Given the description of an element on the screen output the (x, y) to click on. 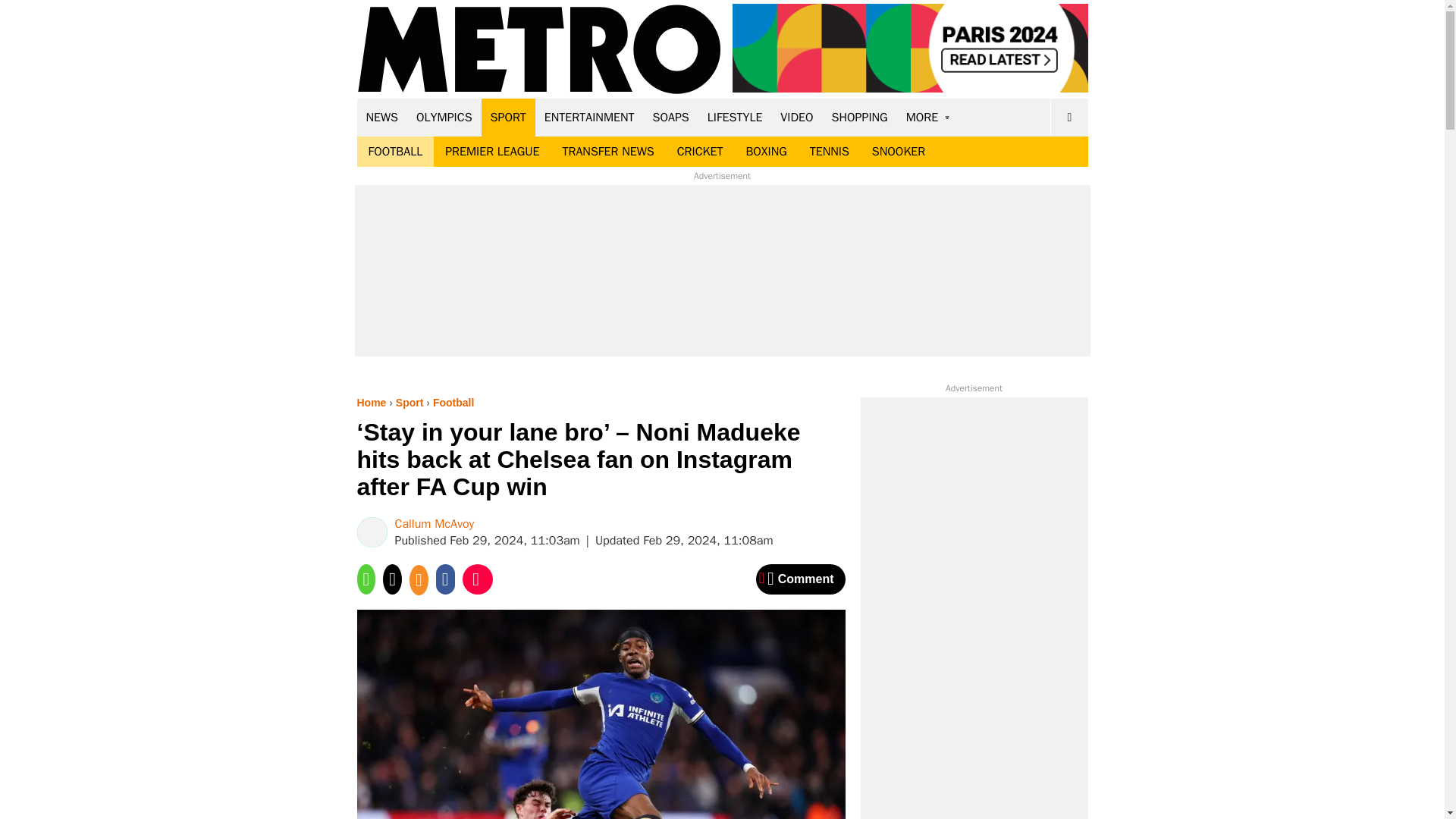
FOOTBALL (394, 151)
OLYMPICS (444, 117)
TRANSFER NEWS (607, 151)
TENNIS (828, 151)
ENTERTAINMENT (589, 117)
CRICKET (700, 151)
SOAPS (670, 117)
SPORT (508, 117)
BOXING (765, 151)
NEWS (381, 117)
Metro (539, 50)
SNOOKER (898, 151)
PREMIER LEAGUE (491, 151)
LIFESTYLE (734, 117)
